Given the description of an element on the screen output the (x, y) to click on. 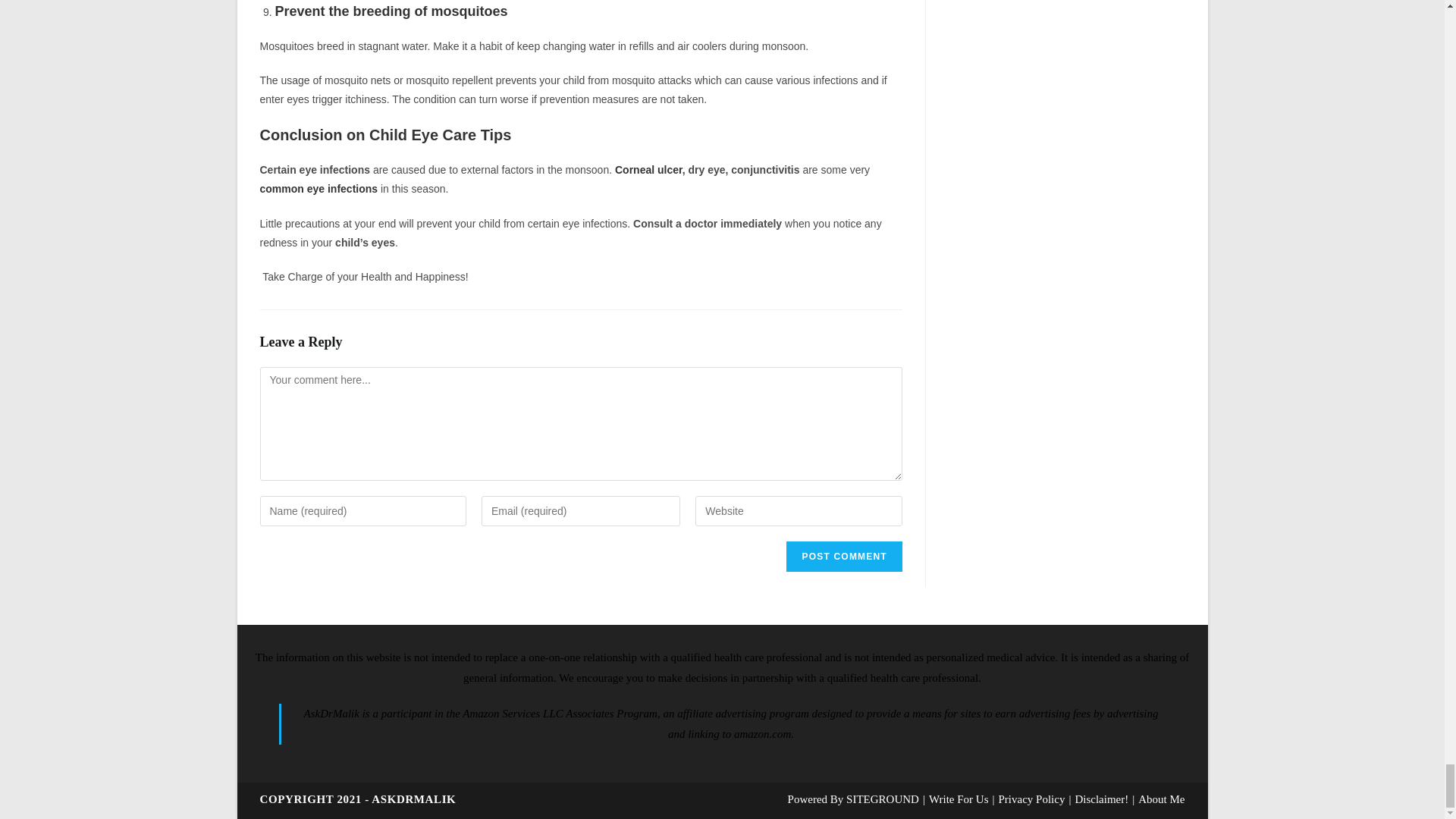
mosquitoes (469, 11)
Corneal ulcer (648, 169)
Post Comment (843, 556)
